Given the description of an element on the screen output the (x, y) to click on. 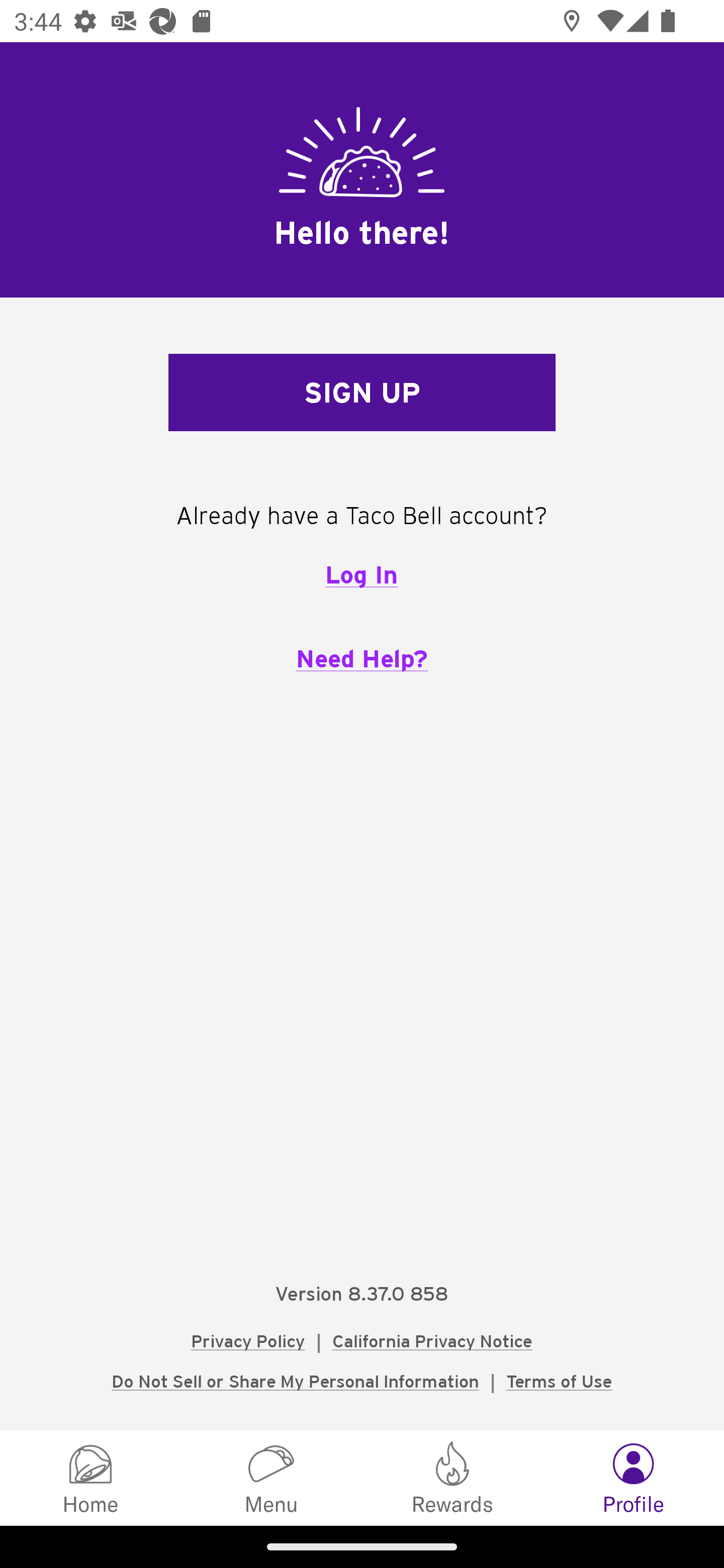
SIGN UP (361, 392)
Log In (361, 574)
Need Help? (361, 658)
Privacy Policy (248, 1341)
California Privacy Notice (432, 1341)
Do Not Sell or Share My Personal Information (295, 1381)
Terms of Use (558, 1381)
Home (90, 1476)
Menu (271, 1476)
Rewards (452, 1476)
My Info Profile (633, 1476)
